Given the description of an element on the screen output the (x, y) to click on. 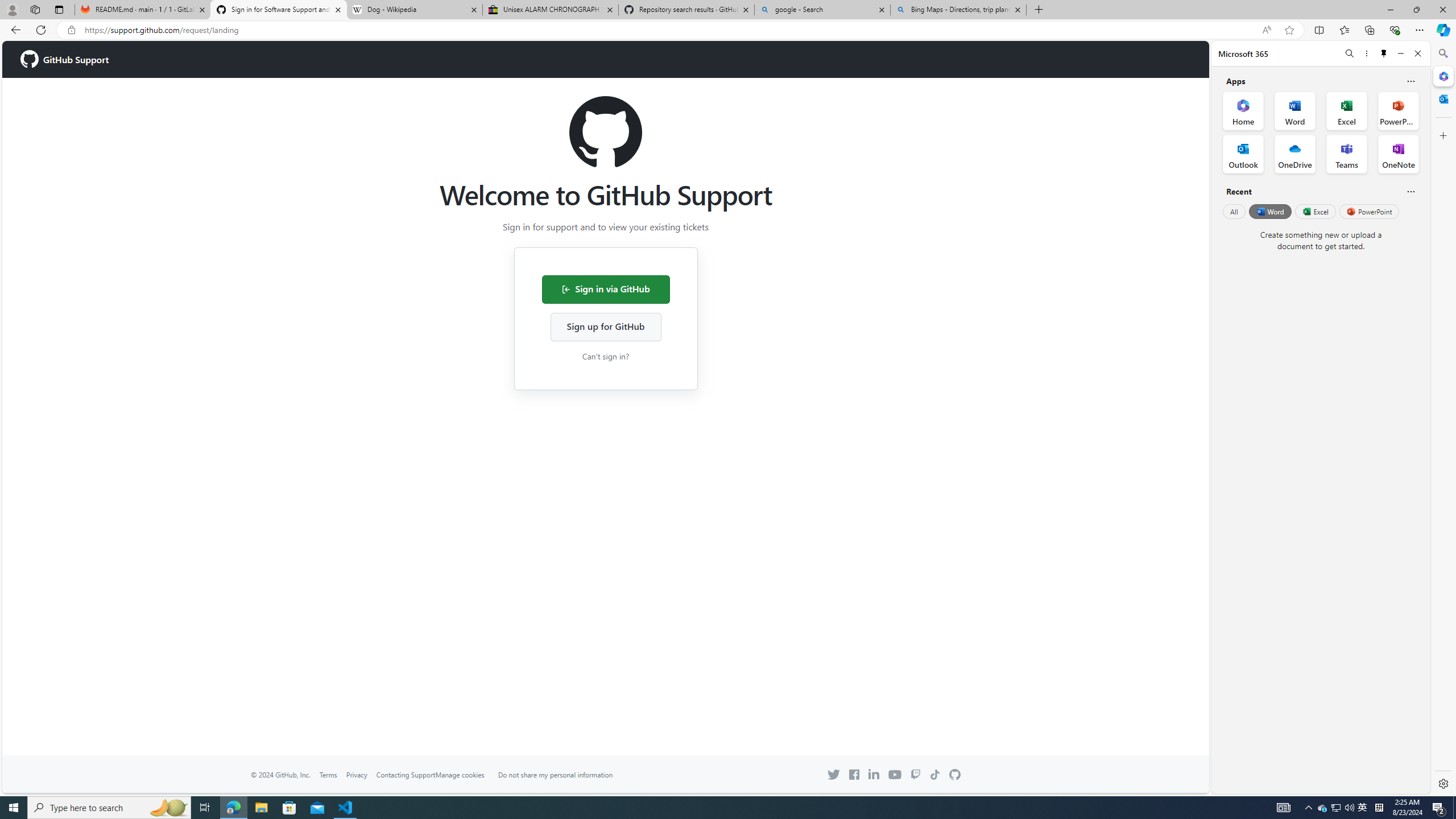
PowerPoint Office App (1398, 110)
PowerPoint (1369, 210)
TikTok icon (935, 774)
Is this helpful? (1410, 191)
Twitch icon (915, 774)
Back to GitHub.com (954, 774)
google - Search (822, 9)
Sign in via GitHub (605, 288)
OneDrive Office App (1295, 154)
Do not share my personal information (554, 774)
